Given the description of an element on the screen output the (x, y) to click on. 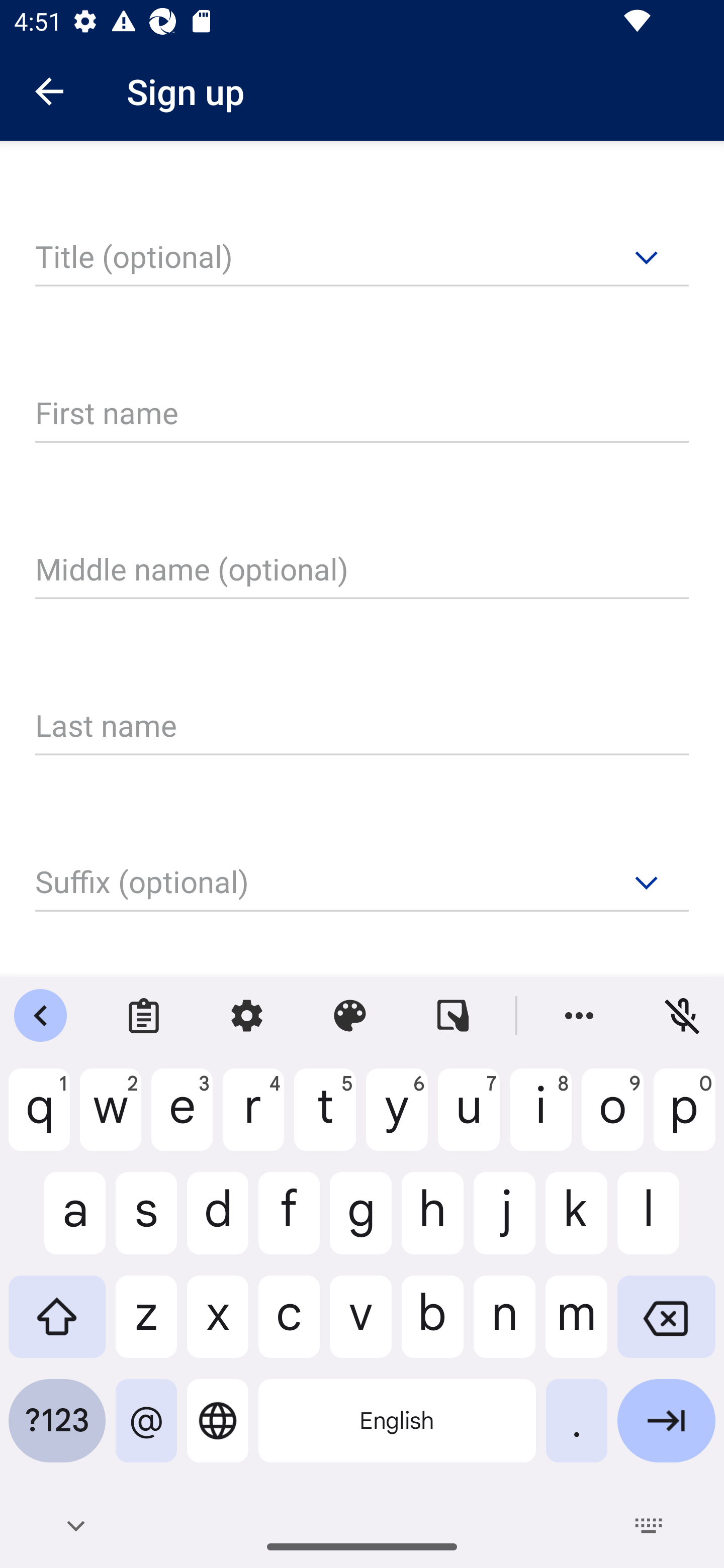
Navigate up (49, 91)
Title (optional) (361, 258)
First name (361, 414)
Middle name (optional) (361, 570)
Last name (361, 727)
Suffix (optional) (361, 883)
